Given the description of an element on the screen output the (x, y) to click on. 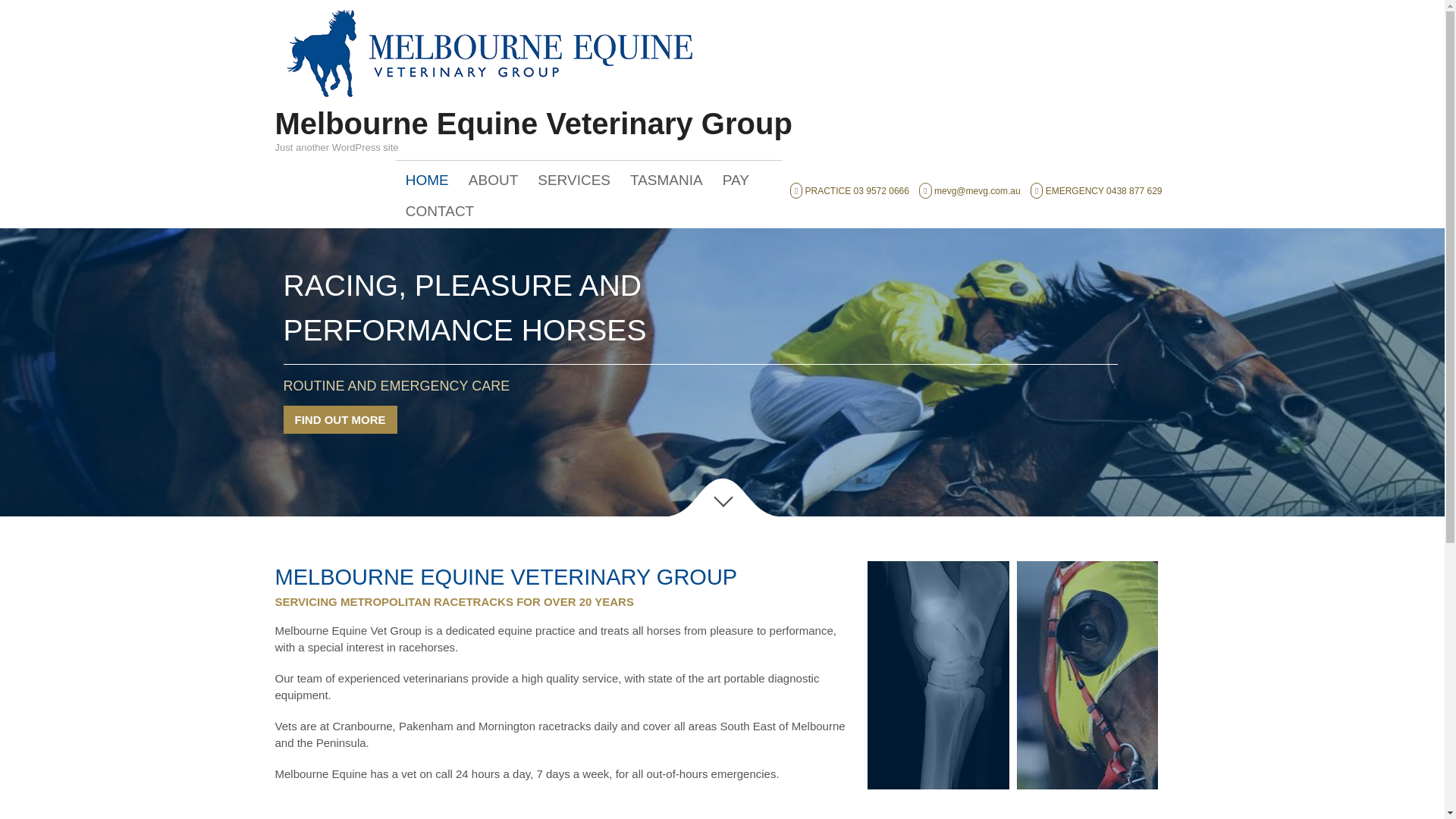
SERVICES (573, 180)
TASMANIA (666, 180)
Melbourne Equine Veterinary Group (533, 123)
ABOUT (492, 180)
CONTACT (439, 212)
Just another WordPress site (489, 100)
HOME (427, 180)
FIND OUT MORE (340, 419)
PAY (735, 180)
